Given the description of an element on the screen output the (x, y) to click on. 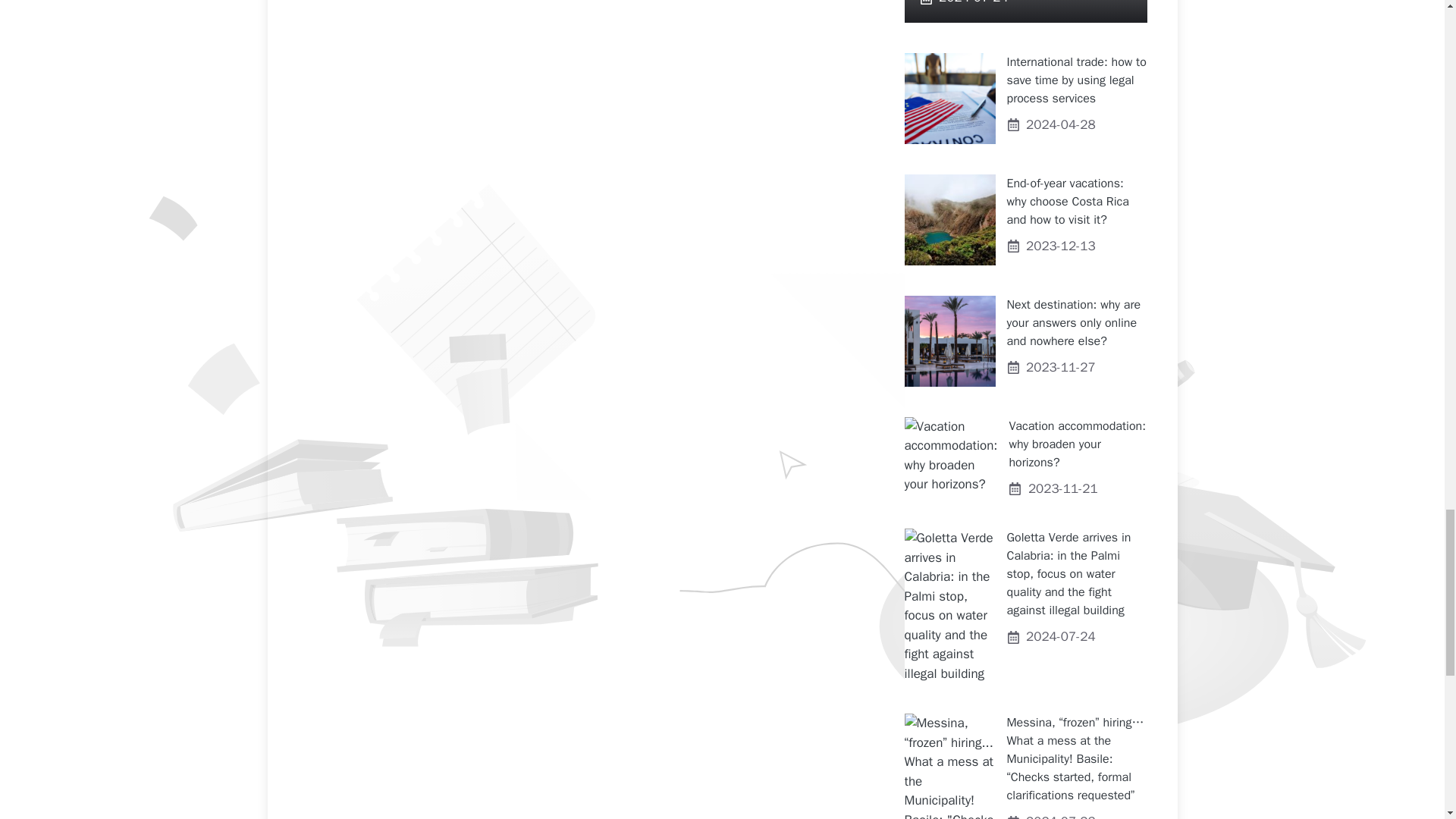
Vacation accommodation: why broaden your horizons? (1077, 444)
